Given the description of an element on the screen output the (x, y) to click on. 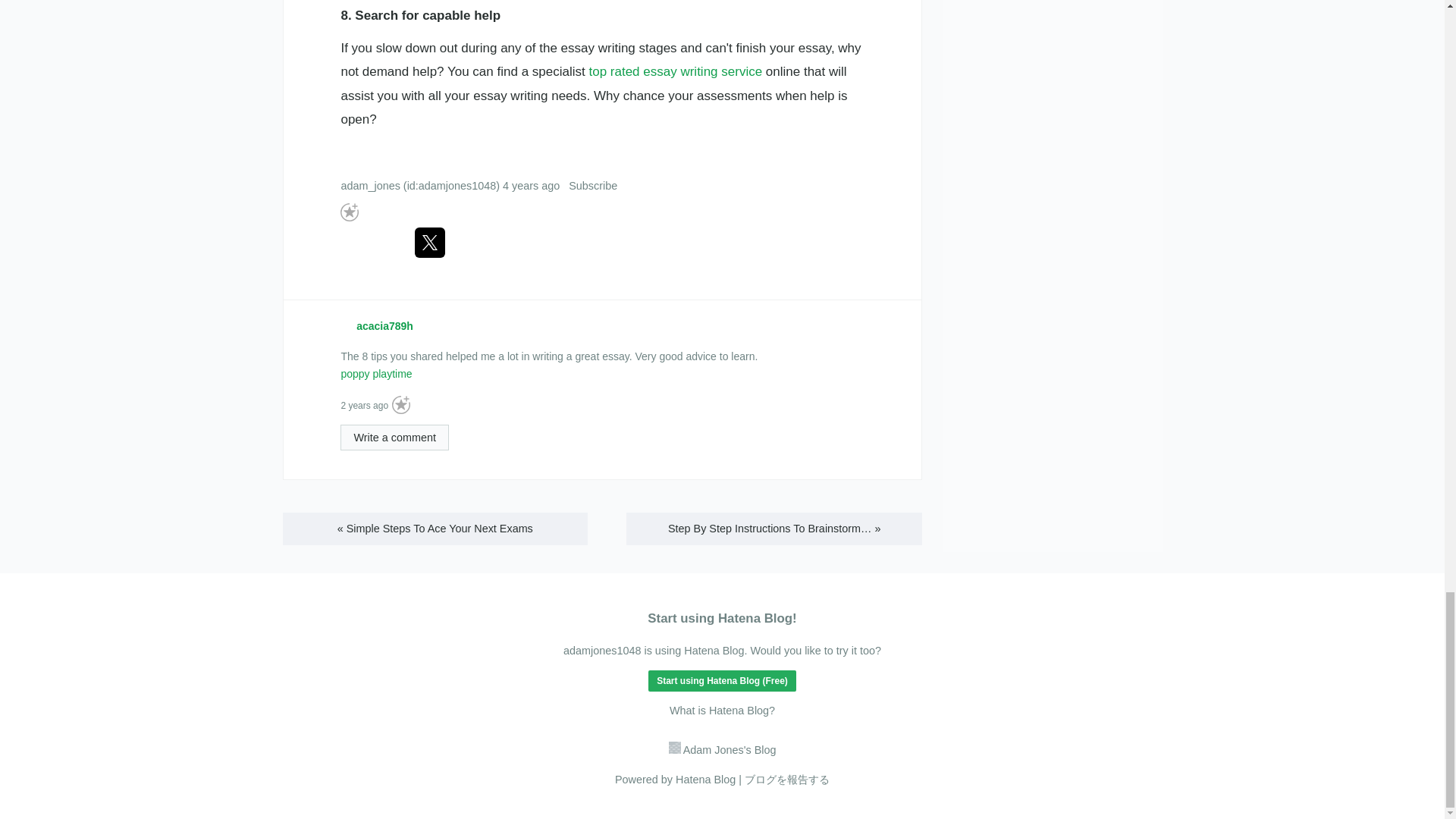
acacia789h (384, 326)
2020-08-12T11:25:58Z (530, 185)
poppy playtime (376, 373)
What is Hatena Blog? (721, 710)
Bookmark this entry on Hatena::Bookmark (372, 242)
Adam Jones's Blog (722, 749)
top rated essay writing service (674, 71)
Write a comment (394, 437)
4 years ago (530, 185)
Subscribe (593, 185)
